Given the description of an element on the screen output the (x, y) to click on. 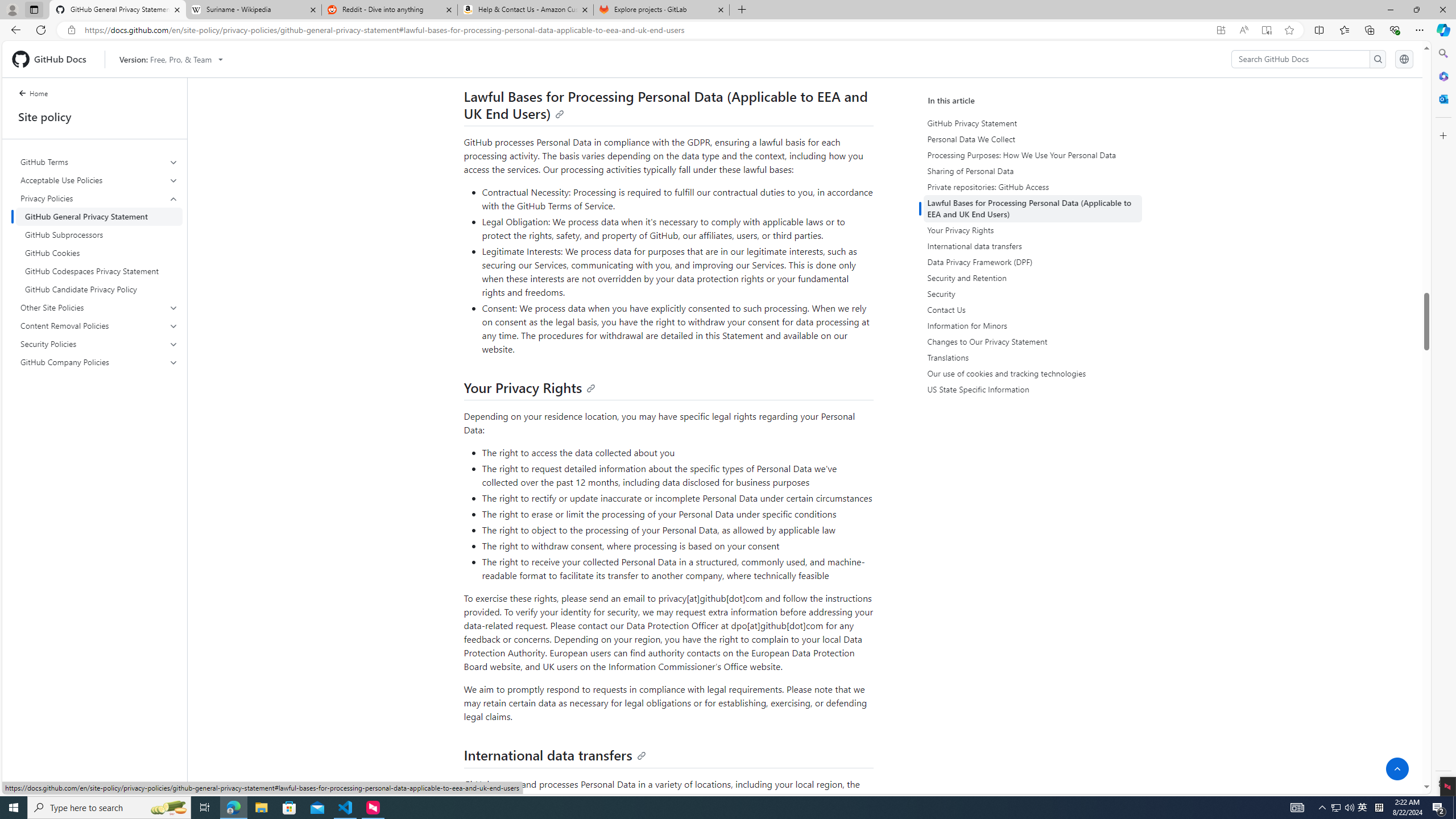
GitHub Candidate Privacy Policy (99, 289)
Security and Retention (1034, 277)
Translations (1034, 357)
Data Privacy Framework (DPF) (1034, 261)
Processing Purposes: How We Use Your Personal Data (1032, 154)
Select language: current language is English (1403, 58)
GitHub Company Policies (99, 361)
